Given the description of an element on the screen output the (x, y) to click on. 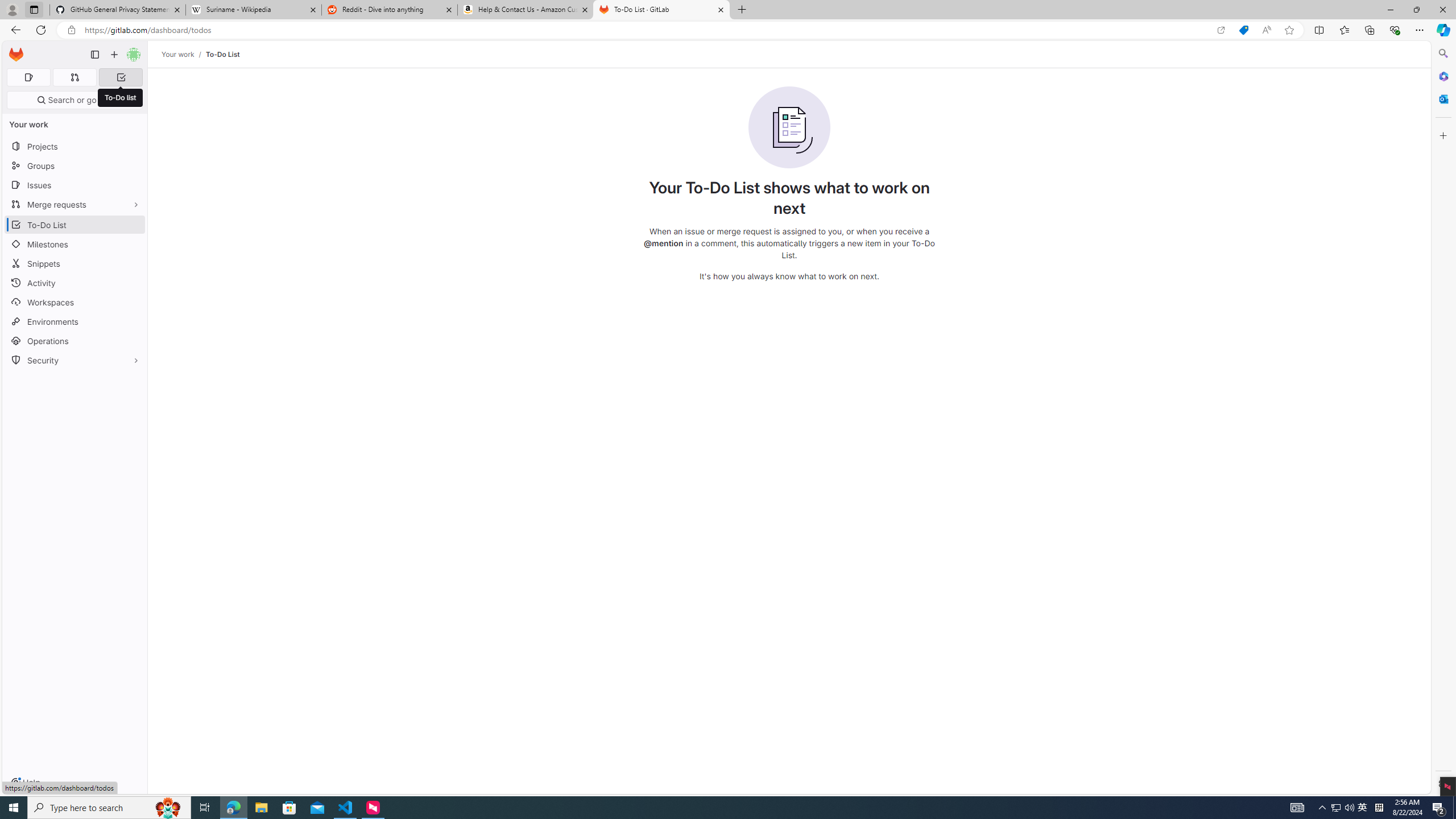
Open in app (1220, 29)
Issues (74, 185)
Primary navigation sidebar (94, 54)
Create new... (113, 54)
To-Do List (222, 53)
Activity (74, 282)
